Given the description of an element on the screen output the (x, y) to click on. 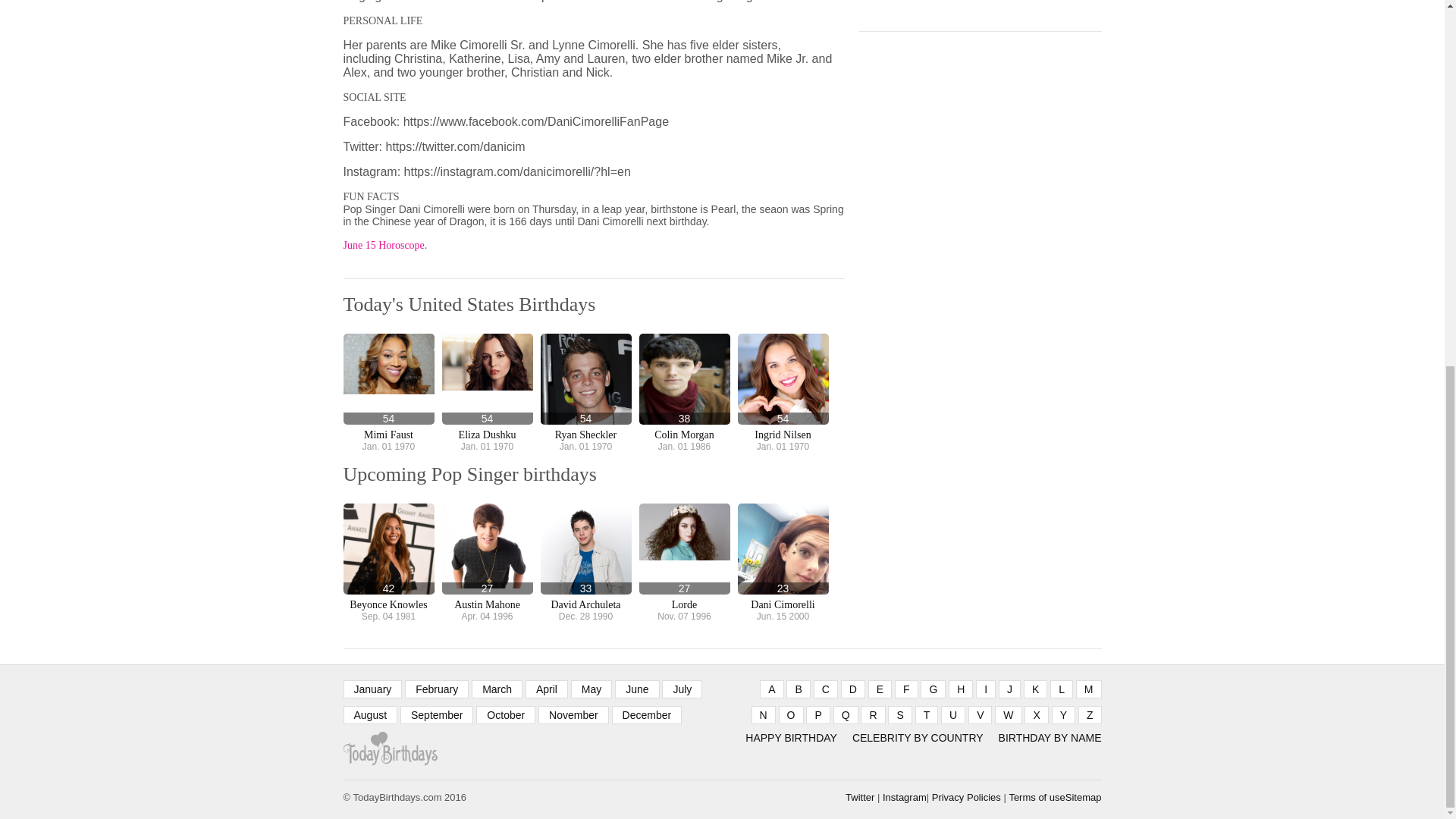
54 (782, 379)
j (1009, 689)
38 (684, 379)
a (771, 689)
n (763, 714)
Dani Cimorelli (782, 604)
23 (782, 548)
54 (585, 379)
b (797, 689)
g (932, 689)
54 (486, 379)
27 (486, 548)
o (790, 714)
Advertisement (972, 6)
Eliza Dushku (487, 435)
